Given the description of an element on the screen output the (x, y) to click on. 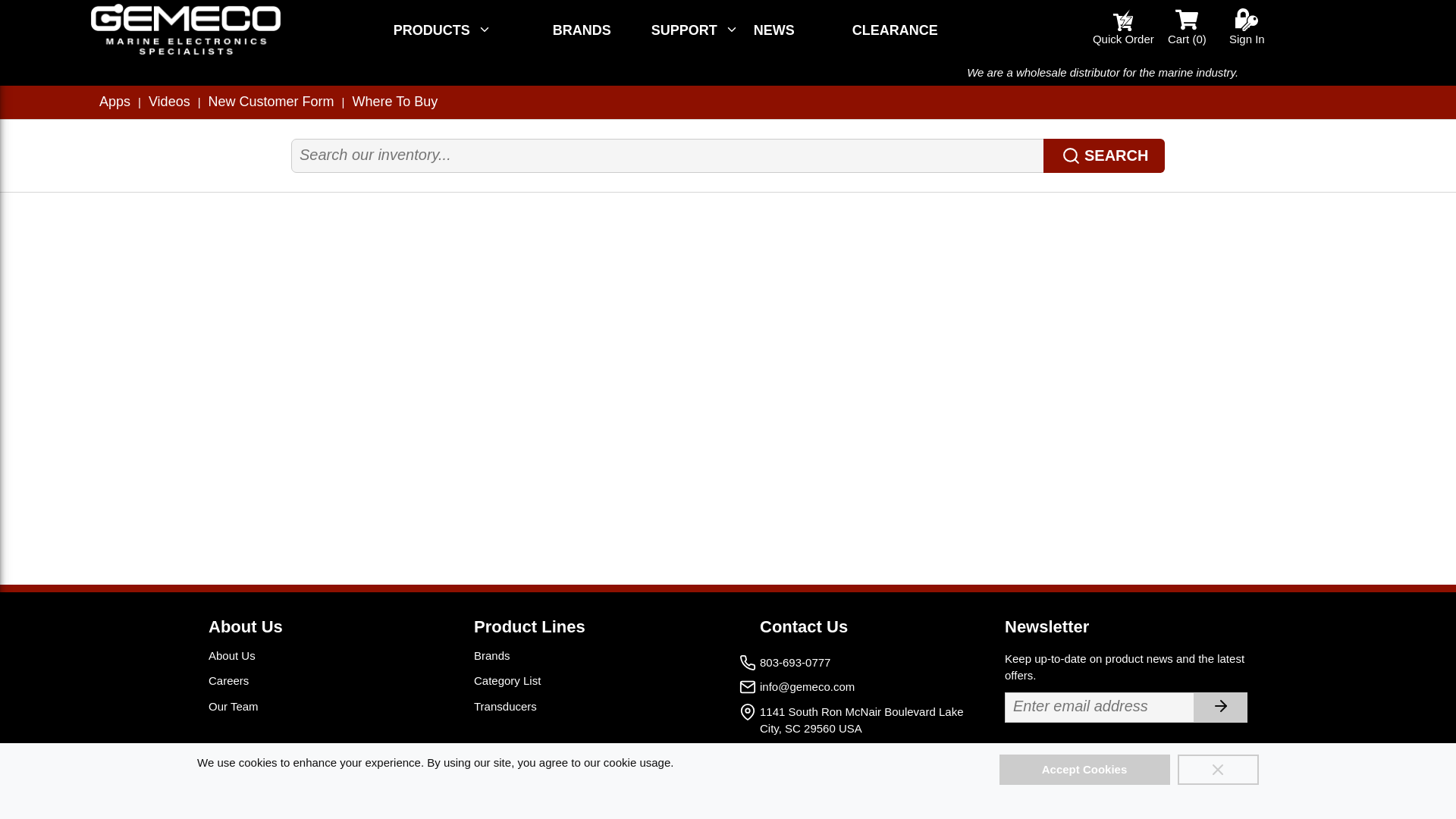
Facebook (1181, 792)
PRODUCTS (442, 30)
BRANDS (581, 30)
YouTube (1232, 792)
Skip to main content (78, 20)
Instagram (1130, 792)
LinkedIn (1080, 792)
CLEARANCE (894, 30)
Sign In (1250, 28)
NEWS (773, 30)
SUPPORT (694, 30)
